Given the description of an element on the screen output the (x, y) to click on. 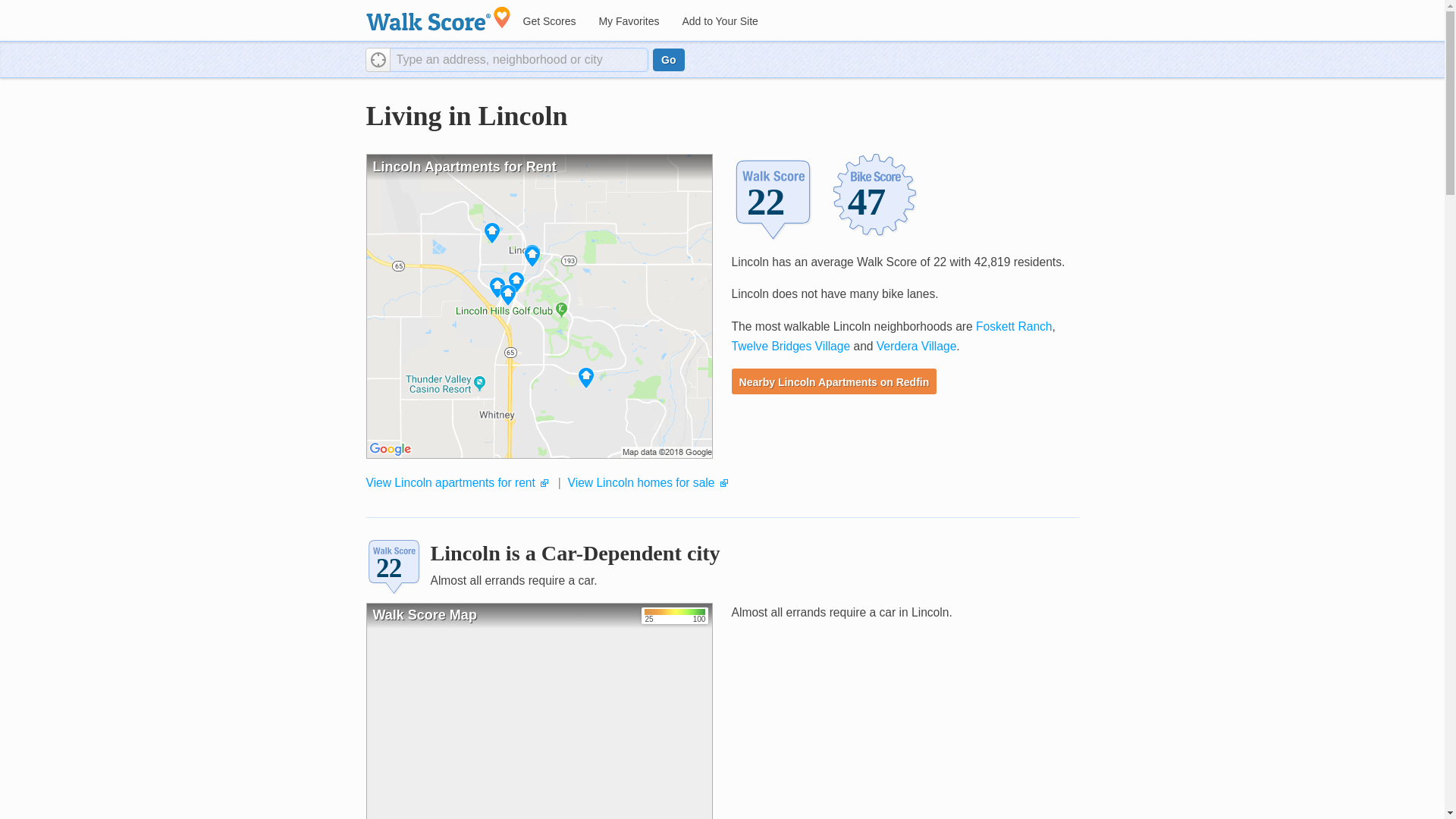
View Lincoln homes for sale (640, 481)
Twelve Bridges Village (791, 345)
View Lincoln apartments for rent (449, 481)
Add to Your Site (719, 21)
Go (668, 59)
My Favorites (628, 21)
Lincoln Apartments for Rent (539, 305)
Foskett Ranch (1013, 326)
Get Scores (548, 21)
Nearby Lincoln Apartments on Redfin (834, 380)
Verdera Village (916, 345)
